Given the description of an element on the screen output the (x, y) to click on. 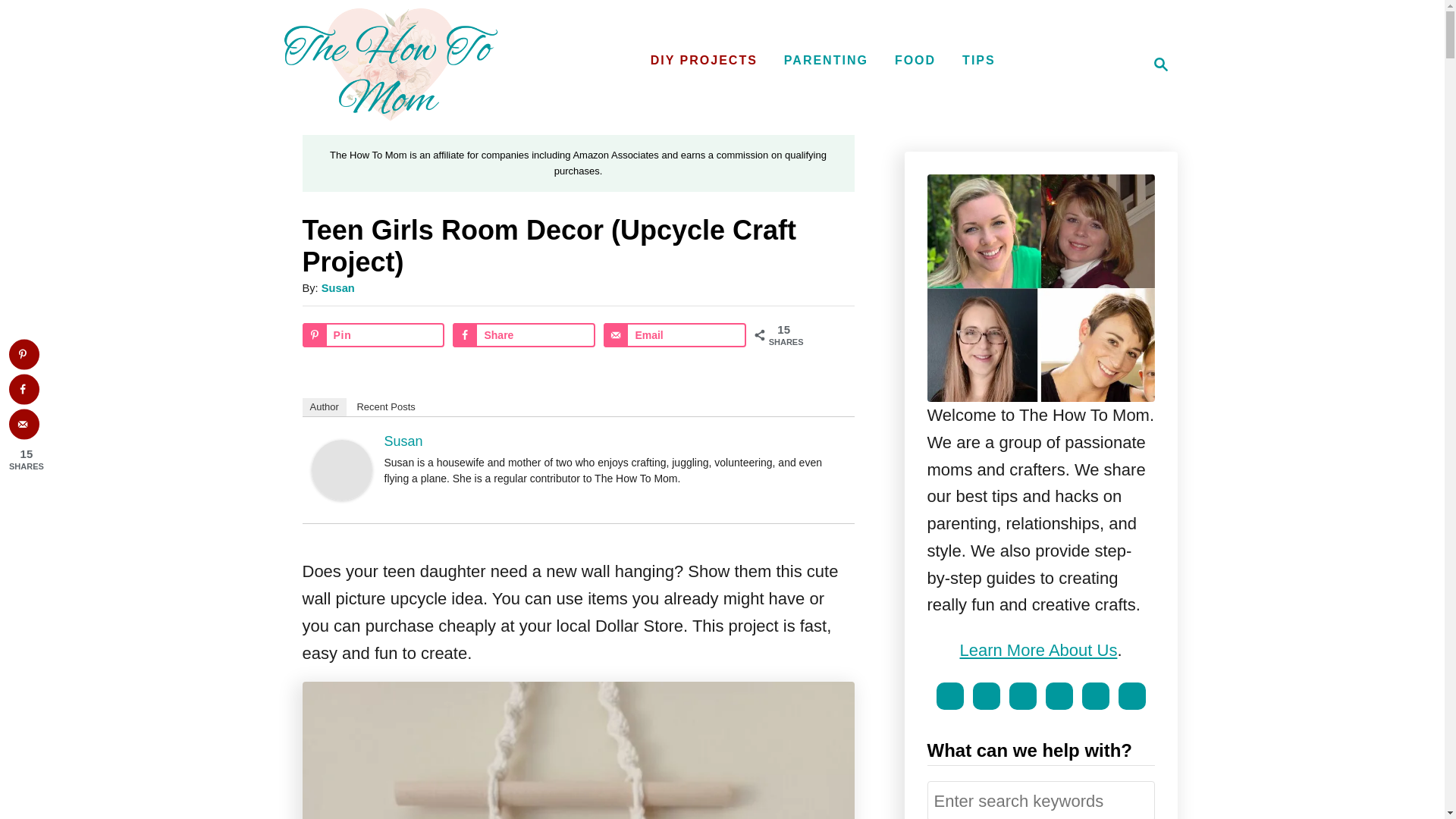
Recent Posts (385, 407)
Susan (1155, 64)
Pin (341, 469)
Author (372, 334)
TIPS (323, 407)
Save to Pinterest (979, 60)
PARENTING (23, 354)
DIY PROJECTS (826, 60)
Send over email (704, 60)
